Given the description of an element on the screen output the (x, y) to click on. 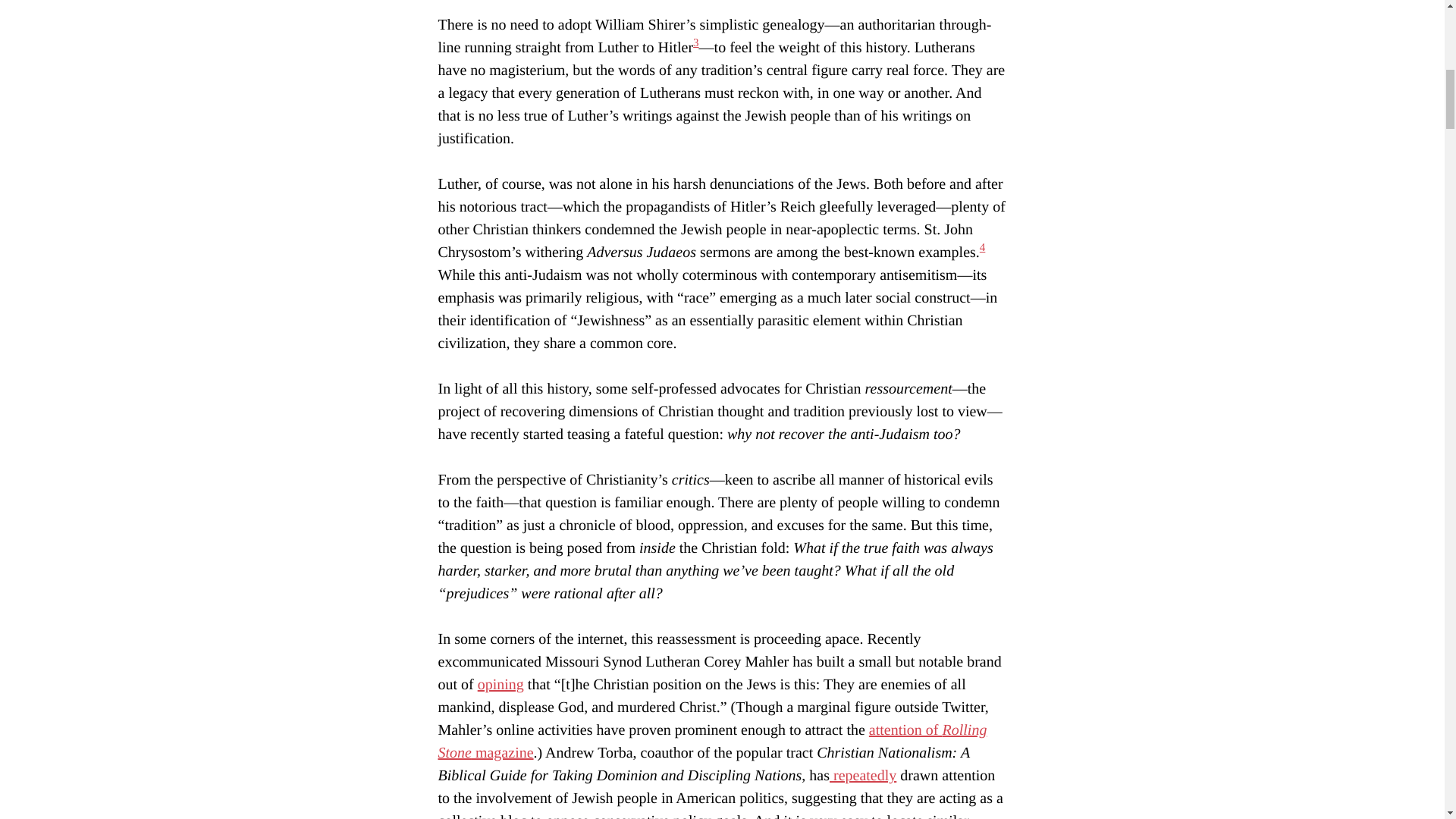
repeatedly (862, 775)
opining (500, 684)
attention of Rolling Stone magazine (712, 741)
